Given the description of an element on the screen output the (x, y) to click on. 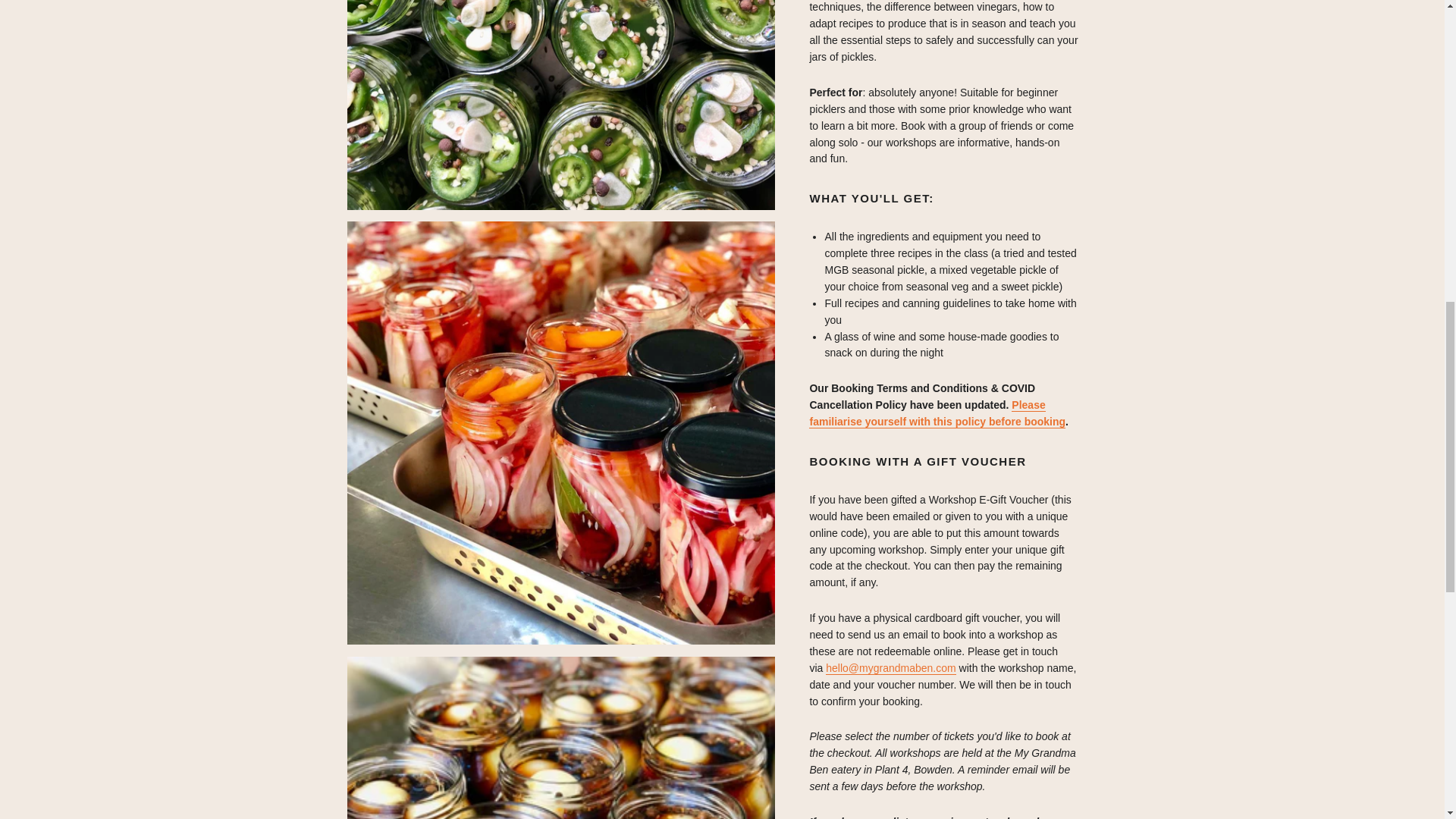
Please familiarise yourself with this policy before booking (937, 413)
